Given the description of an element on the screen output the (x, y) to click on. 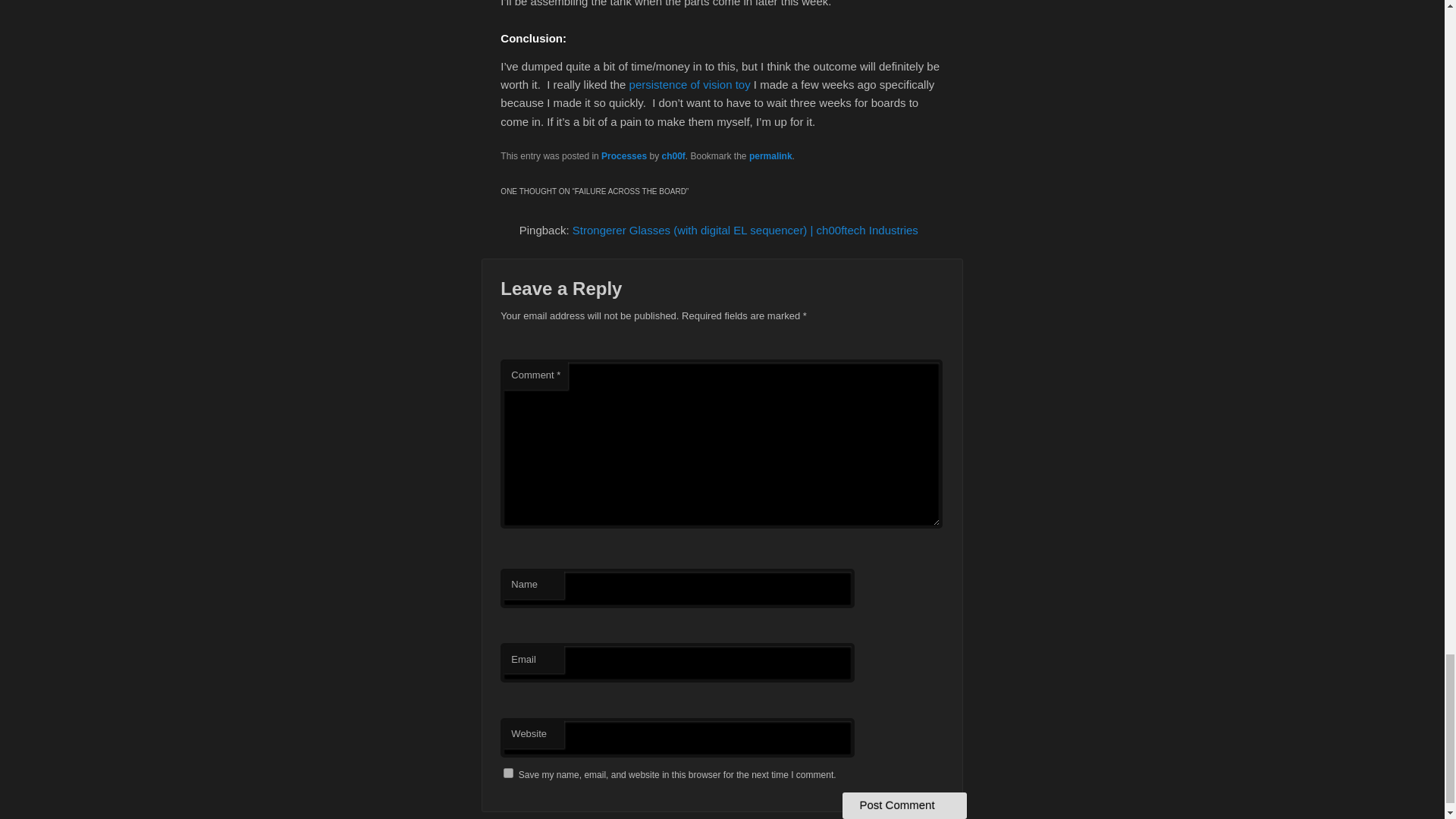
permalink (770, 155)
ch00f (672, 155)
yes (508, 773)
Post Comment (904, 805)
LED persistence of vision toy (689, 83)
persistence of vision toy (689, 83)
Post Comment (904, 805)
Processes (623, 155)
Permalink to Failure Across the Board (770, 155)
